Given the description of an element on the screen output the (x, y) to click on. 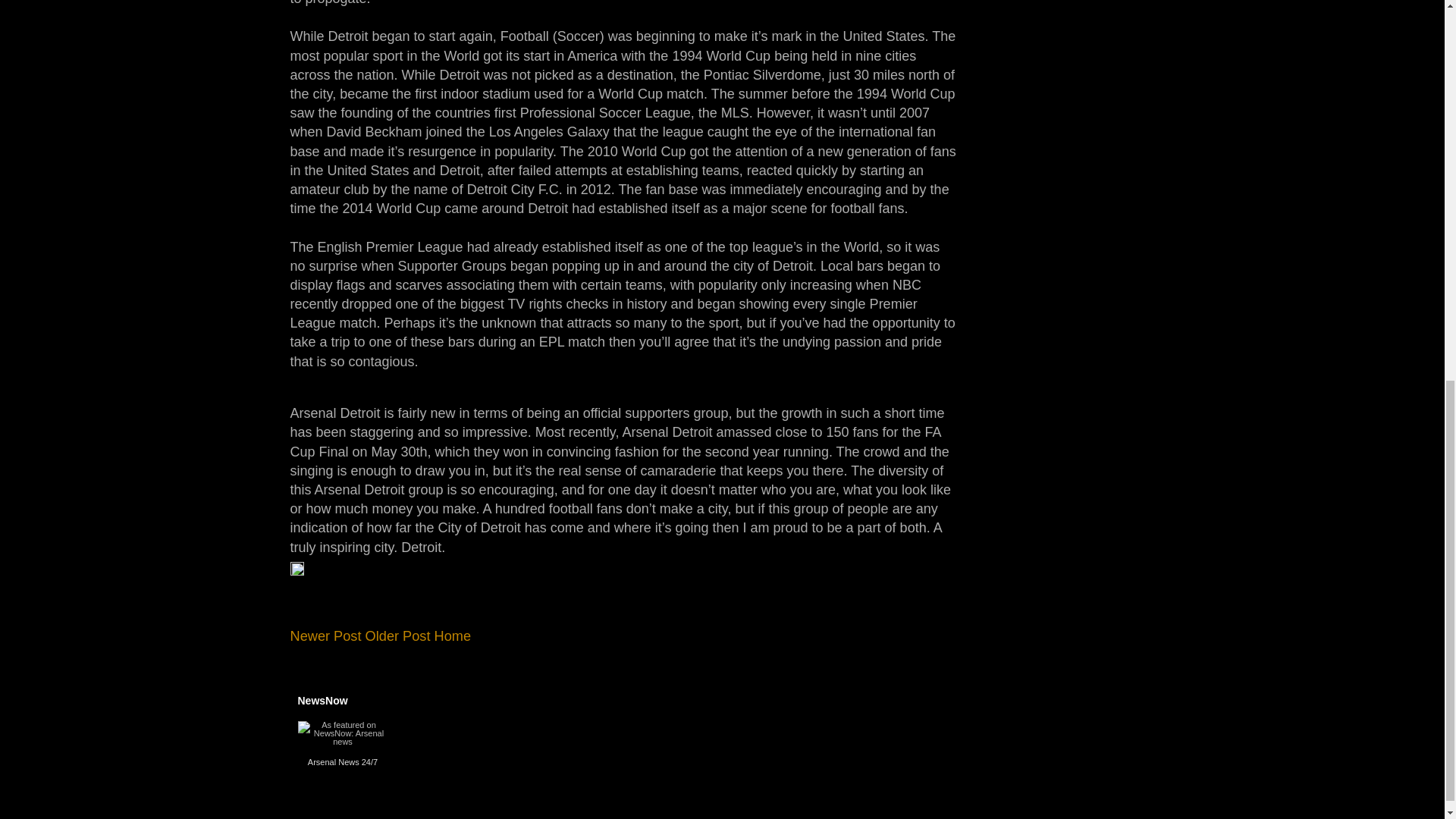
Older Post (397, 635)
Older Post (397, 635)
Click here for more Arsenal news from NewsNow (333, 761)
Newer Post (325, 635)
Click here for more Arsenal news from NewsNow (368, 761)
Click here for more Arsenal news from NewsNow (342, 743)
Newer Post (325, 635)
Edit Post (295, 572)
Home (452, 635)
Arsenal News (333, 761)
